Given the description of an element on the screen output the (x, y) to click on. 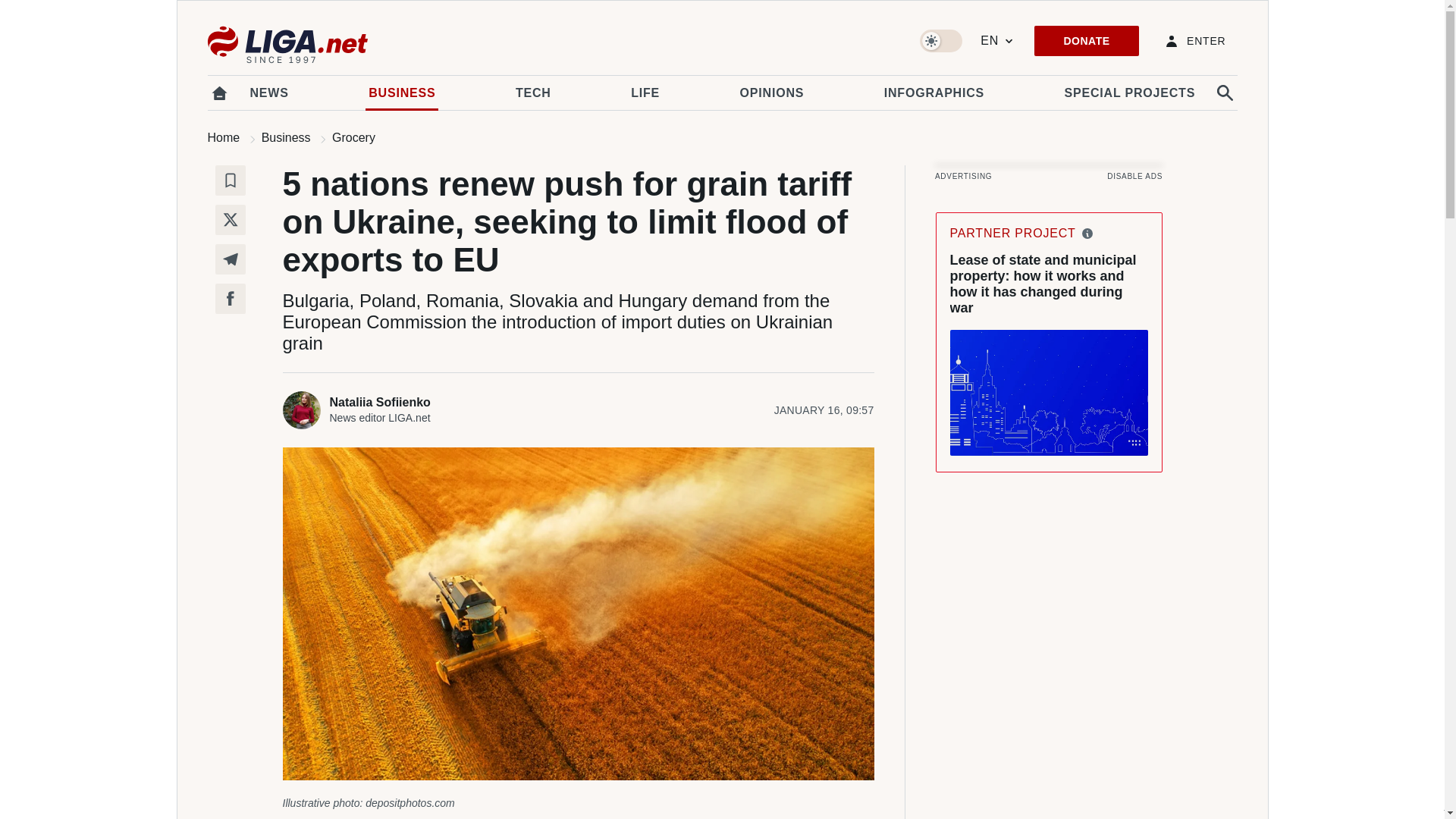
DISABLE ADS (1133, 176)
Home (224, 137)
TECH (533, 93)
Business (286, 137)
NEWS (269, 93)
SPECIAL PROJECTS (1129, 93)
OPINIONS (772, 93)
INFOGRAPHICS (933, 93)
Nataliia Sofiienko (393, 401)
DONATE (1085, 40)
